Given the description of an element on the screen output the (x, y) to click on. 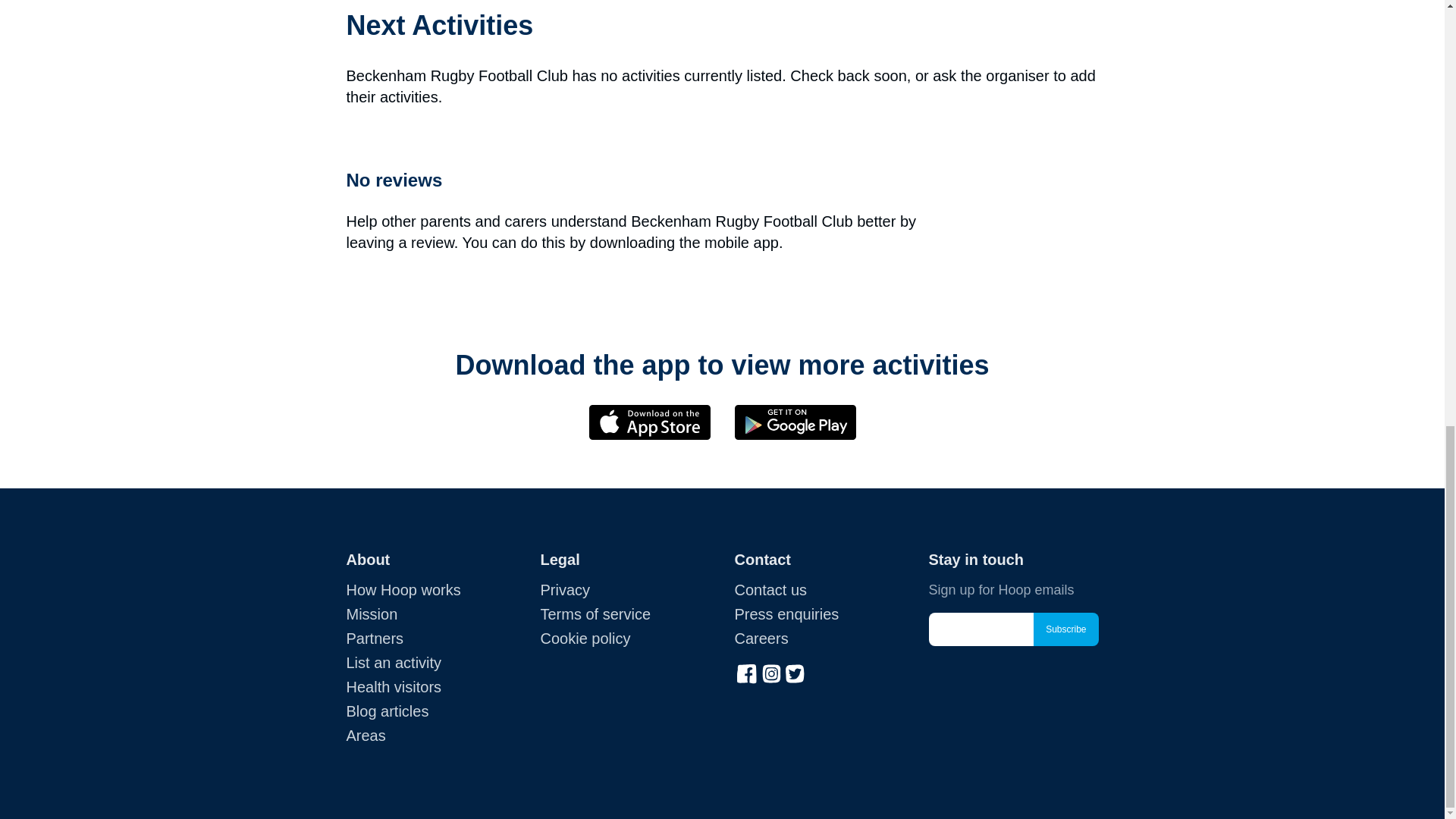
List an activity (393, 662)
Subscribe (1065, 629)
How Hoop works (403, 589)
Blog articles (387, 710)
Areas (365, 735)
Twitter (794, 671)
Partners (374, 638)
Health visitors (393, 686)
Contact us (769, 589)
Cookie policy (585, 638)
Careers (760, 638)
Instagram (770, 671)
Terms of service (595, 614)
Privacy (564, 589)
Mission (371, 614)
